Given the description of an element on the screen output the (x, y) to click on. 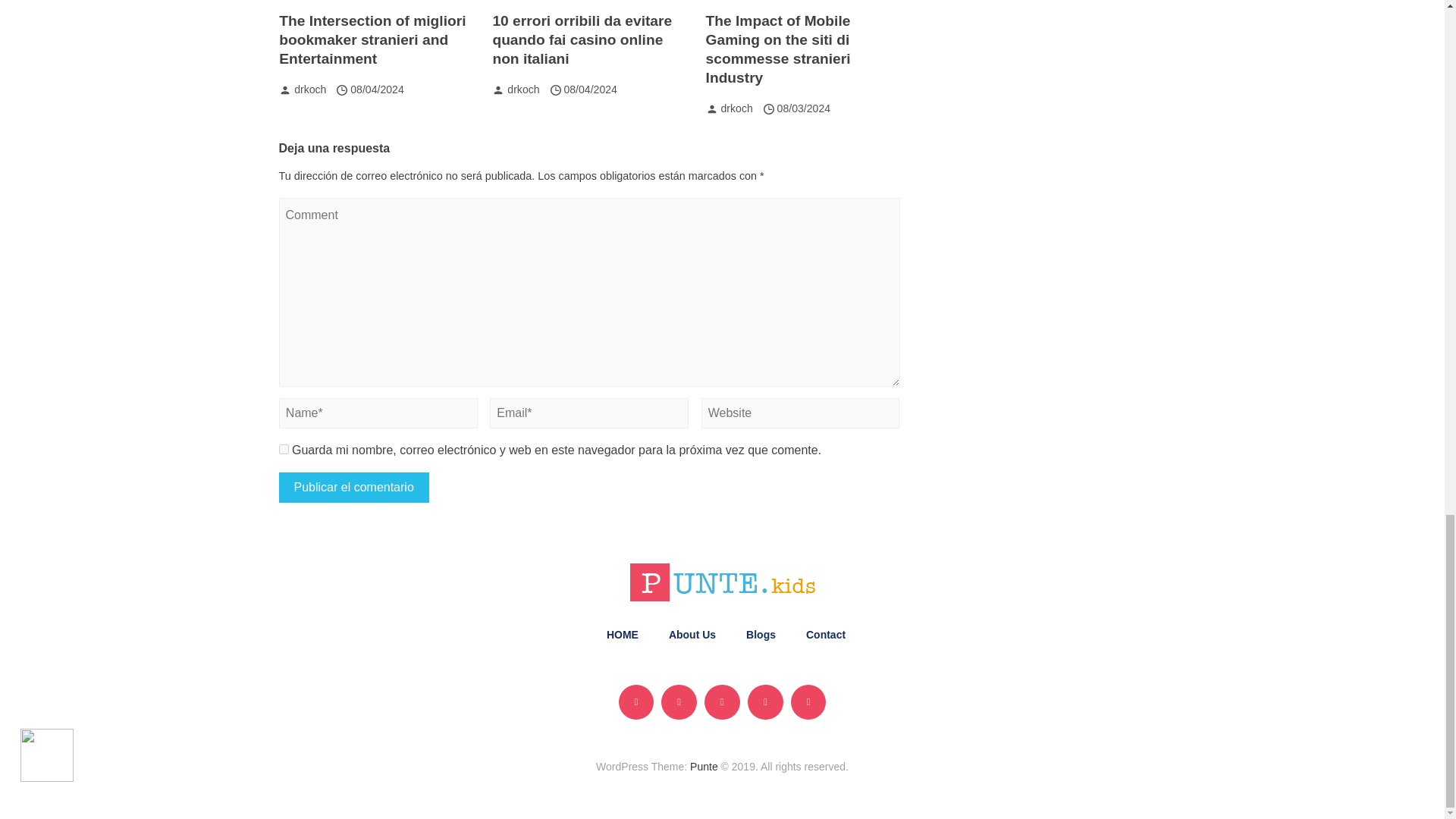
Publicar el comentario (354, 487)
Publicar el comentario (354, 487)
yes (283, 449)
